Given the description of an element on the screen output the (x, y) to click on. 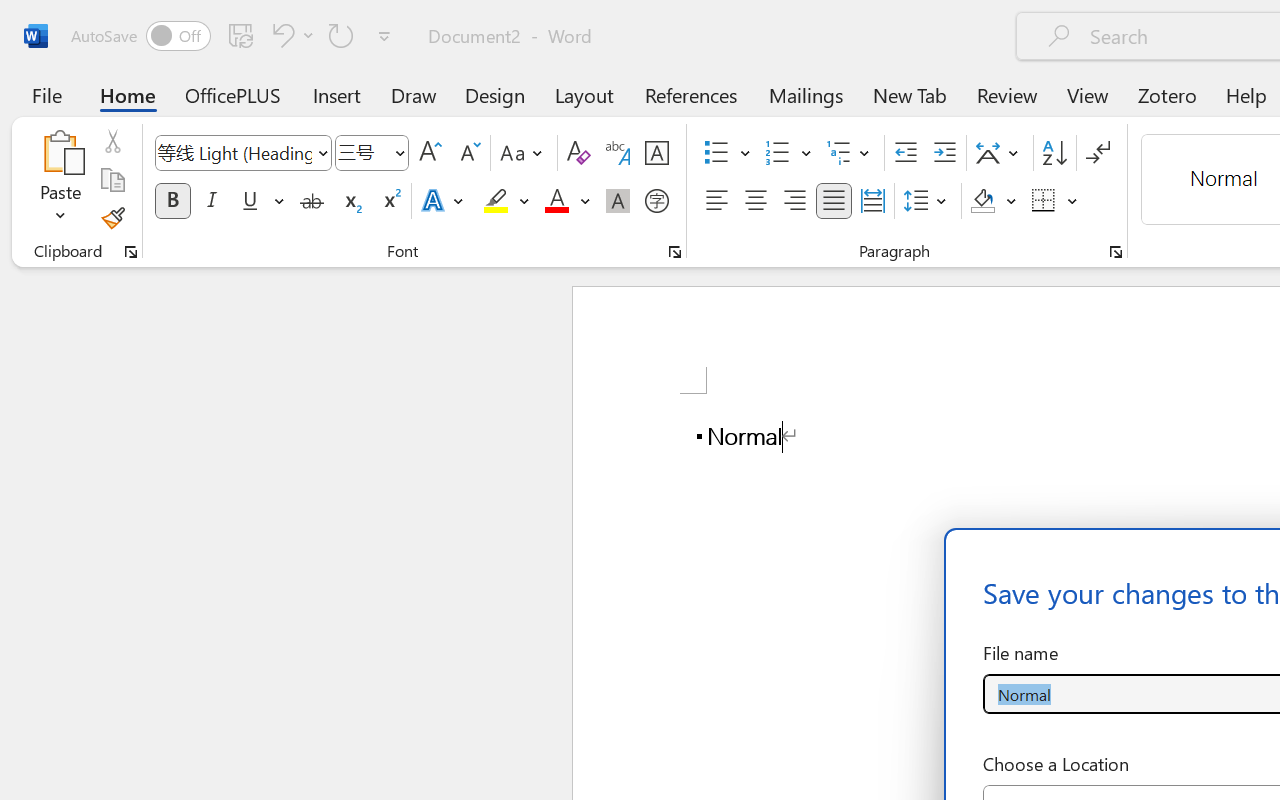
Subscript (350, 201)
Center (756, 201)
Increase Indent (944, 153)
Font... (675, 252)
Align Left (716, 201)
Bullets (727, 153)
Text Effects and Typography (444, 201)
Repeat Typing (341, 35)
Change Case (524, 153)
Shrink Font (468, 153)
Bold (172, 201)
Font Color (567, 201)
Show/Hide Editing Marks (1098, 153)
Borders (1055, 201)
Asian Layout (1000, 153)
